Given the description of an element on the screen output the (x, y) to click on. 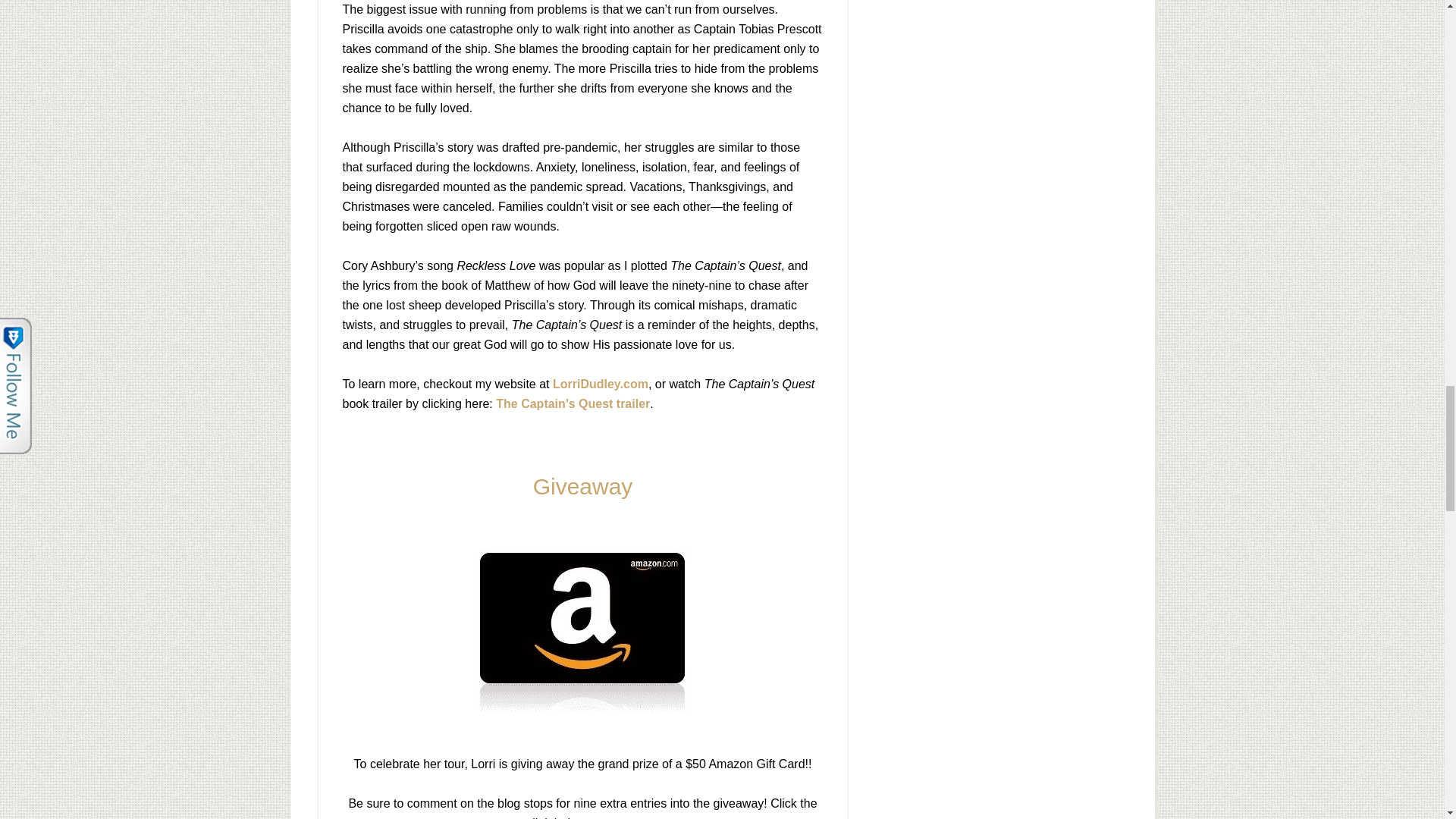
LorriDudley.com (600, 383)
